Given the description of an element on the screen output the (x, y) to click on. 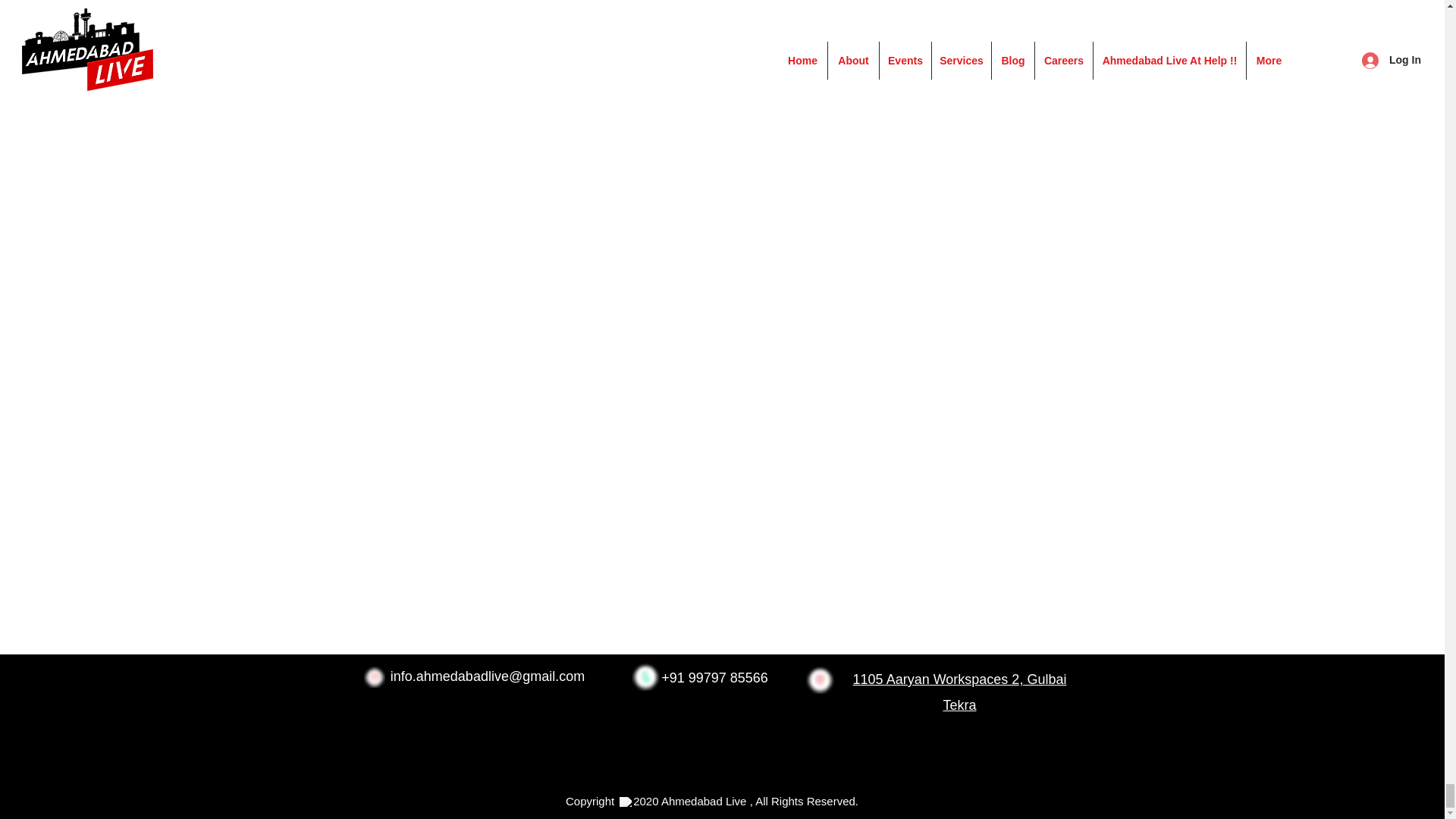
Call Now (645, 676)
location (819, 679)
Email (373, 676)
